Given the description of an element on the screen output the (x, y) to click on. 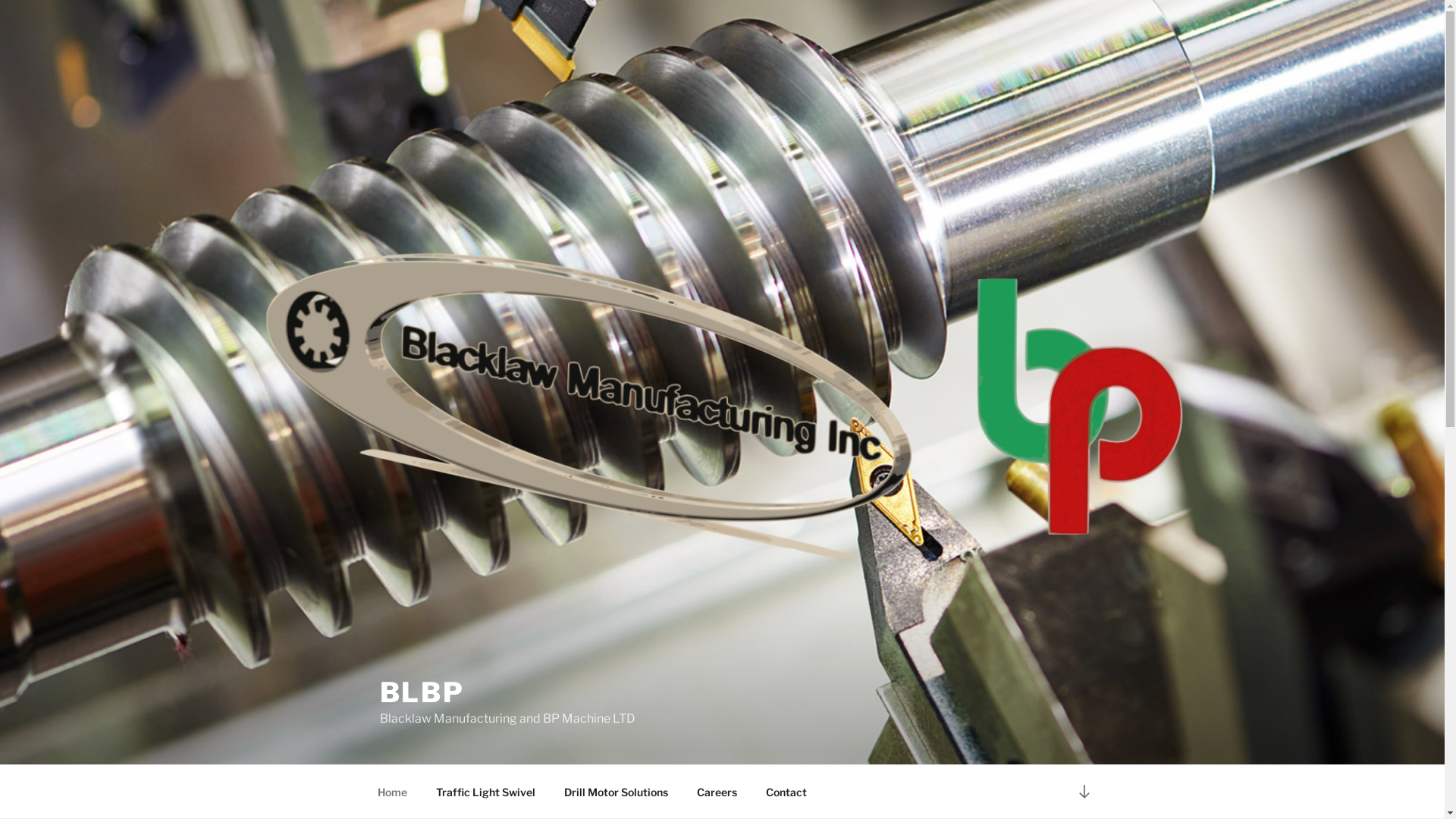
Home Element type: text (392, 791)
Contact Element type: text (785, 791)
Scroll down to content Element type: text (1083, 790)
Traffic Light Swivel Element type: text (486, 791)
BLBP Element type: text (421, 692)
Drill Motor Solutions Element type: text (615, 791)
Careers Element type: text (717, 791)
